Given the description of an element on the screen output the (x, y) to click on. 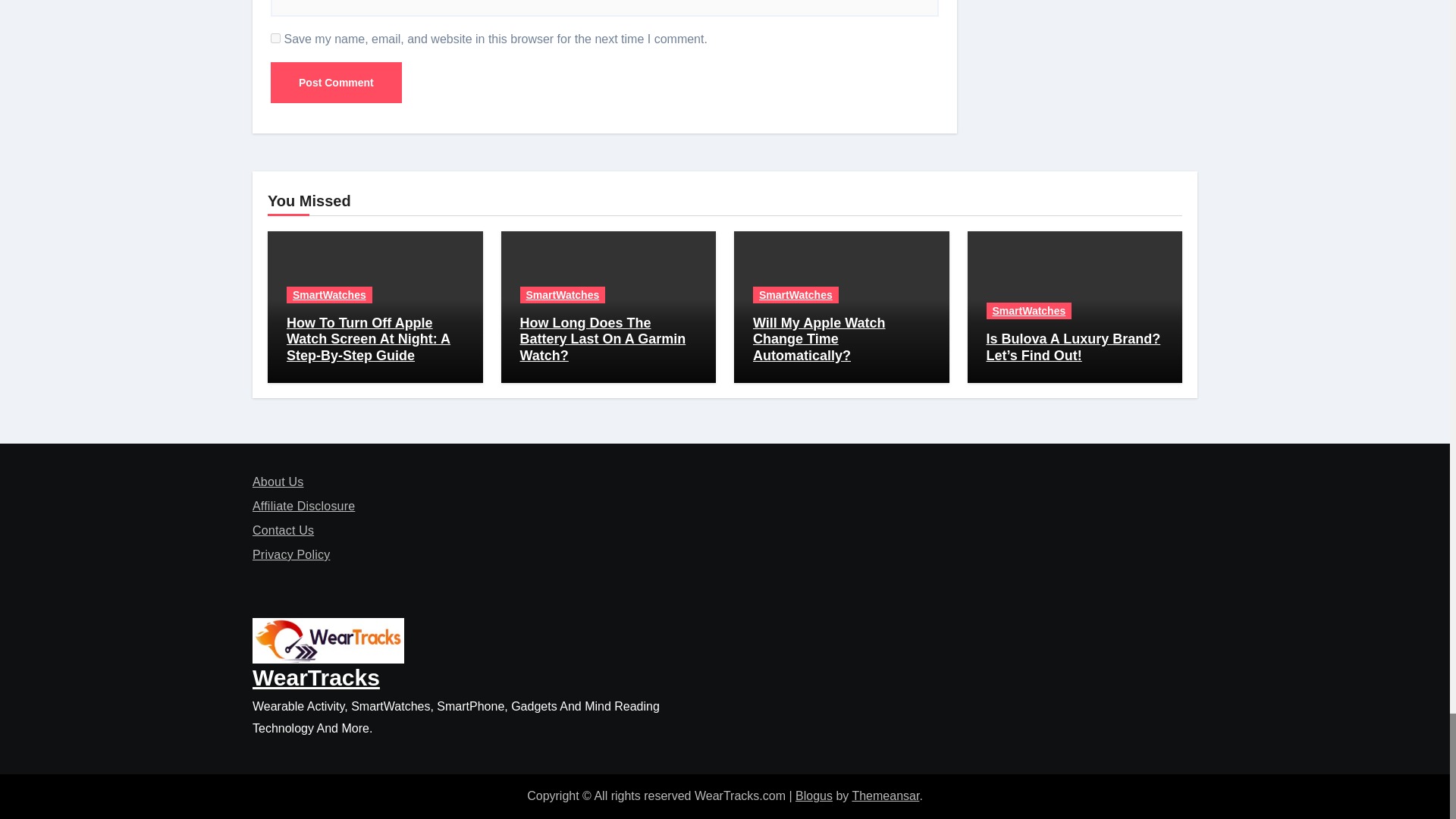
Permalink to: Will My Apple Watch Change Time Automatically? (818, 339)
yes (275, 38)
Post Comment (335, 82)
